Given the description of an element on the screen output the (x, y) to click on. 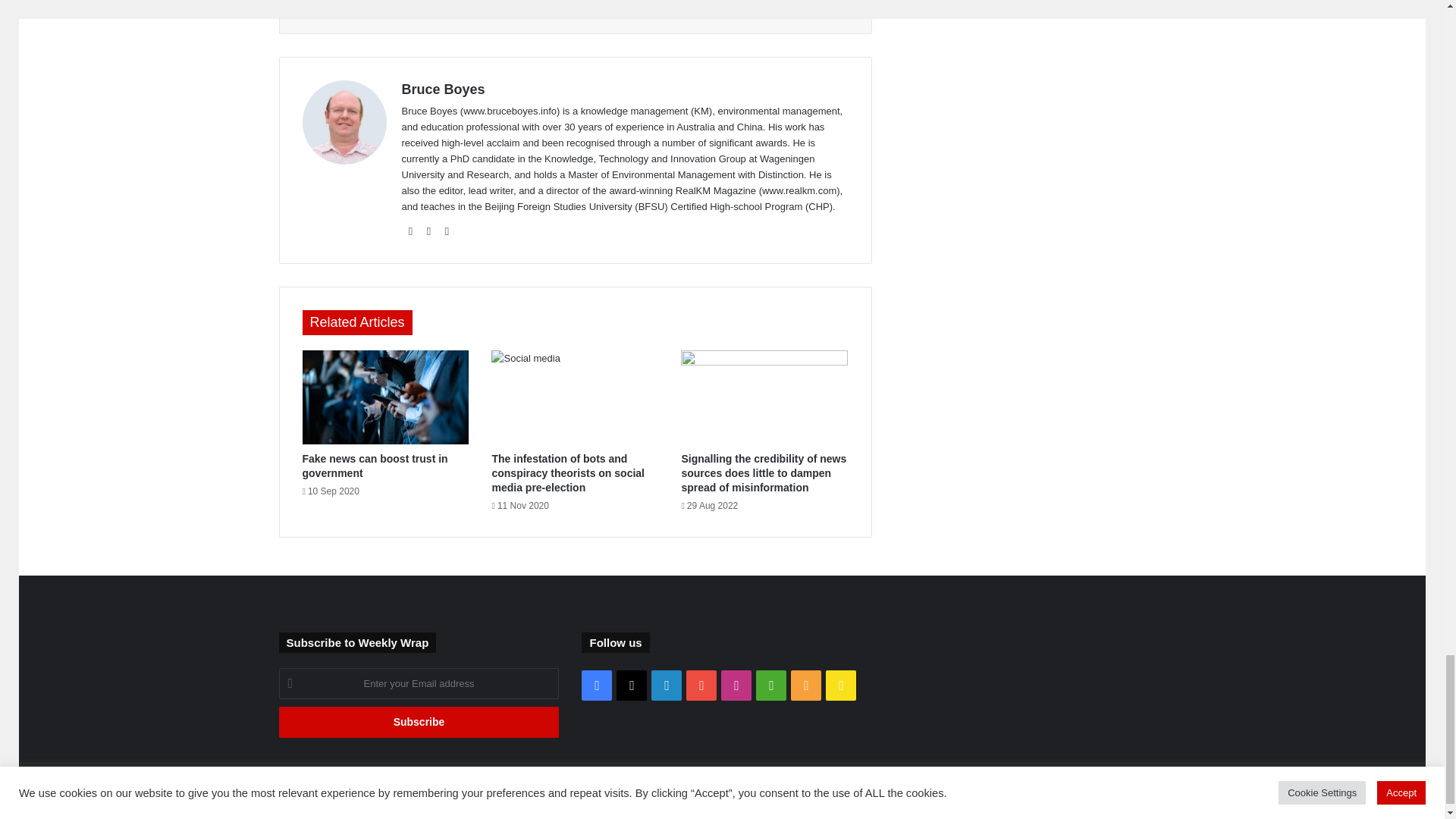
LinkedIn (497, 9)
X (441, 9)
Share via Email (577, 9)
Subscribe (419, 721)
Print (652, 9)
Facebook (380, 9)
